Given the description of an element on the screen output the (x, y) to click on. 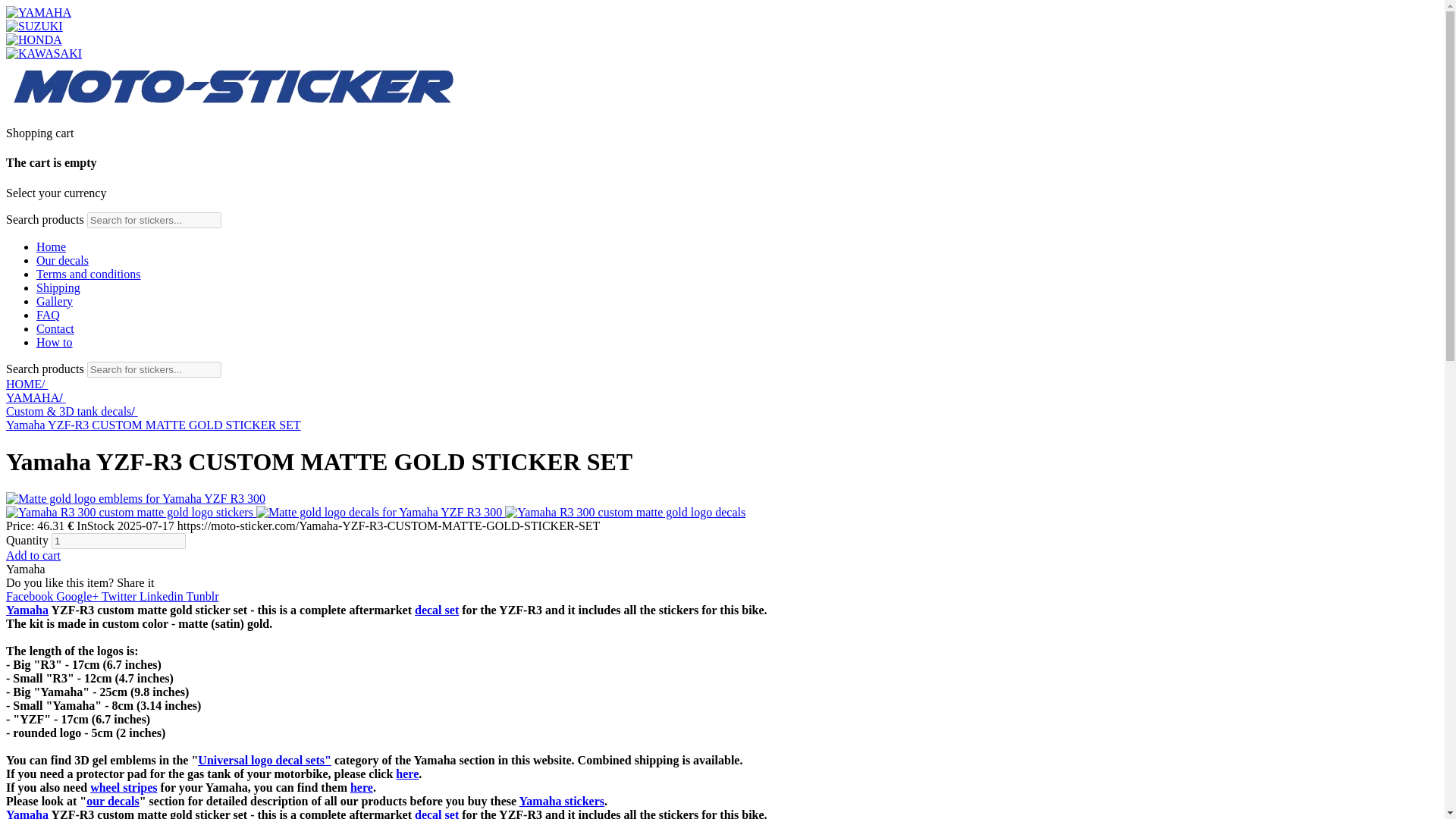
Tunblr (202, 595)
1 (118, 540)
Yamaha (26, 609)
here (361, 787)
YAMAHA (38, 12)
FAQ (47, 314)
Yamaha YZF-R3 CUSTOM MATTE GOLD STICKER SET (379, 512)
here (407, 773)
" (327, 759)
Yamaha YZF-R3 CUSTOM MATTE GOLD STICKER SET (625, 512)
Yamaha stickers (561, 800)
Decal sets and graphics for all kinds of sportbikes (436, 609)
Decal sets for Yamaha motorbikes (26, 609)
Sticker kits and transfers for Yamaha motorcycles (561, 800)
HONDA (33, 39)
